Given the description of an element on the screen output the (x, y) to click on. 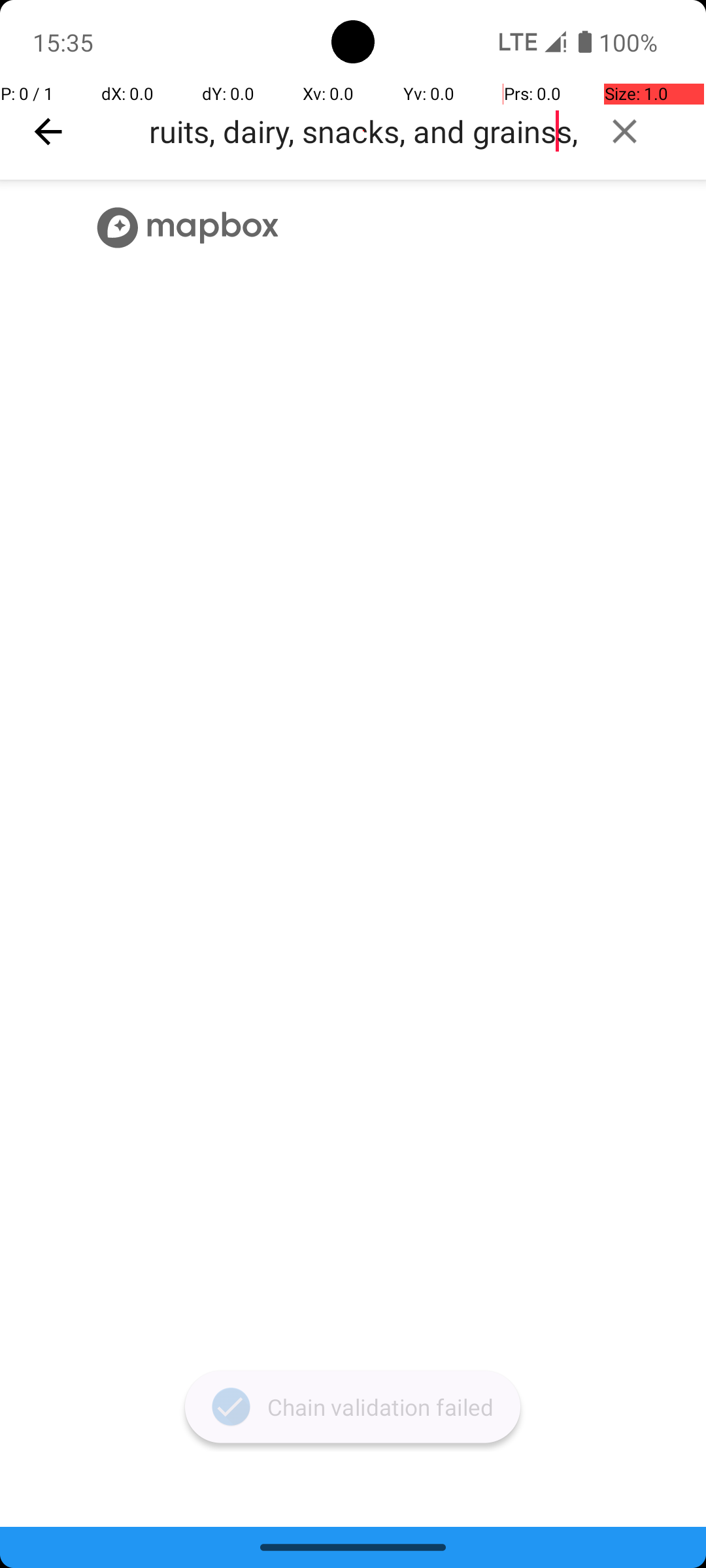
grocery list itemmilk, efruits, vegetablevegetables, fruits, dairy, snacks, and grainss, and snacksggs, and breads Element type: android.widget.AutoCompleteTextView (363, 130)
